Given the description of an element on the screen output the (x, y) to click on. 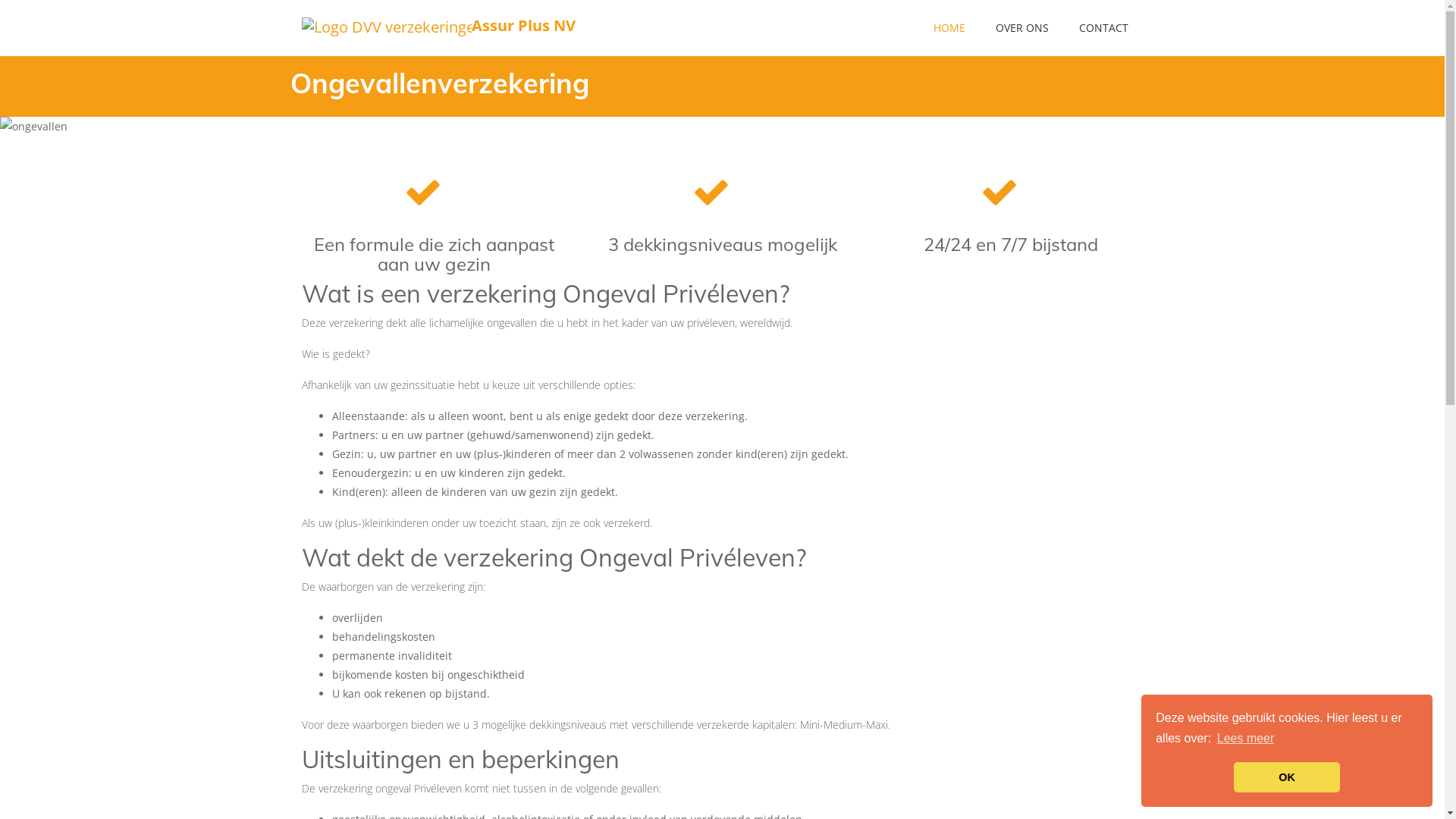
OVER ONS Element type: text (1021, 28)
Lees meer Element type: text (1245, 738)
OK Element type: text (1286, 777)
HOME
(HUIDIGE PAGINA) Element type: text (948, 28)
CONTACT Element type: text (1102, 28)
Assur Plus NV Element type: text (350, 27)
